Given the description of an element on the screen output the (x, y) to click on. 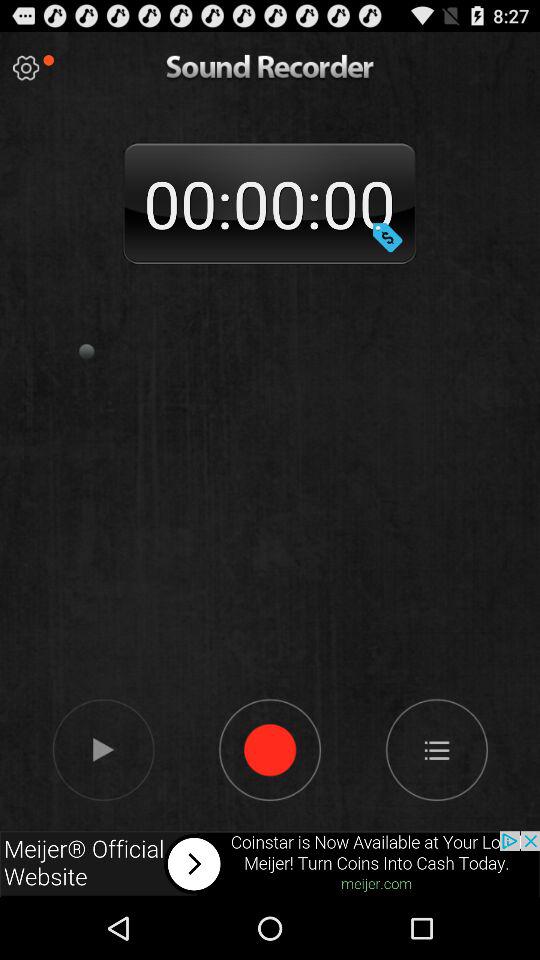
play the sound (102, 749)
